Given the description of an element on the screen output the (x, y) to click on. 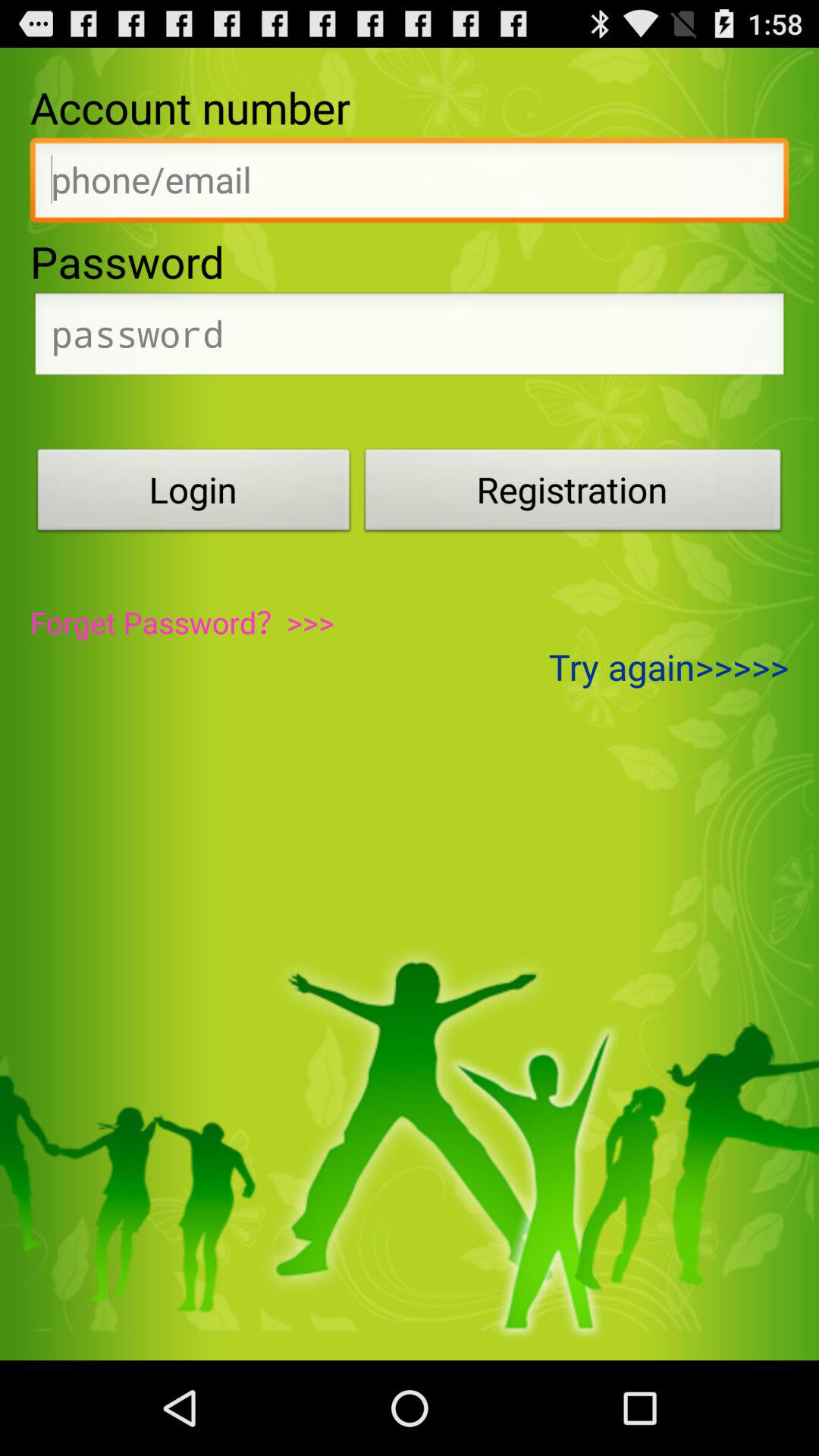
turn on the registration item (572, 494)
